Given the description of an element on the screen output the (x, y) to click on. 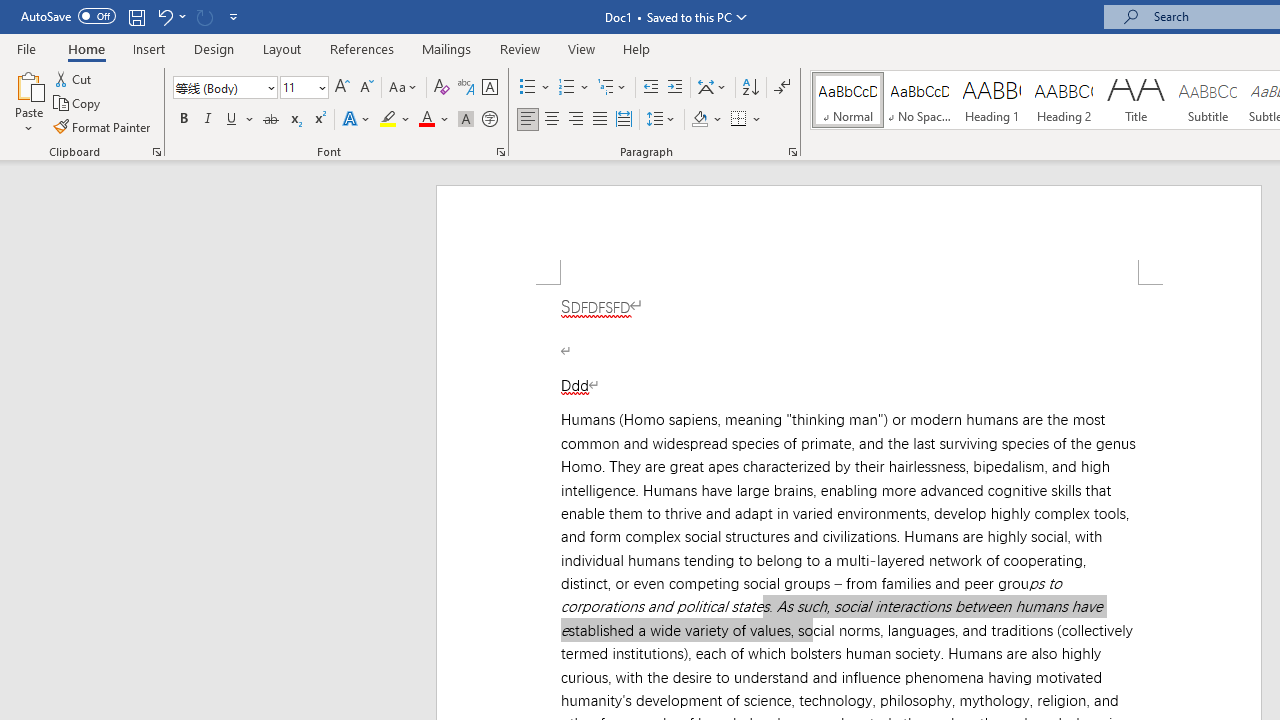
Clear Formatting (442, 87)
Bold (183, 119)
Font... (500, 151)
Sort... (750, 87)
Line and Paragraph Spacing (661, 119)
Font (218, 87)
Paste (28, 102)
Font Size (297, 87)
Office Clipboard... (156, 151)
Character Shading (465, 119)
Copy (78, 103)
Justify (599, 119)
More Options (757, 119)
Multilevel List (613, 87)
Customize Quick Access Toolbar (234, 15)
